Given the description of an element on the screen output the (x, y) to click on. 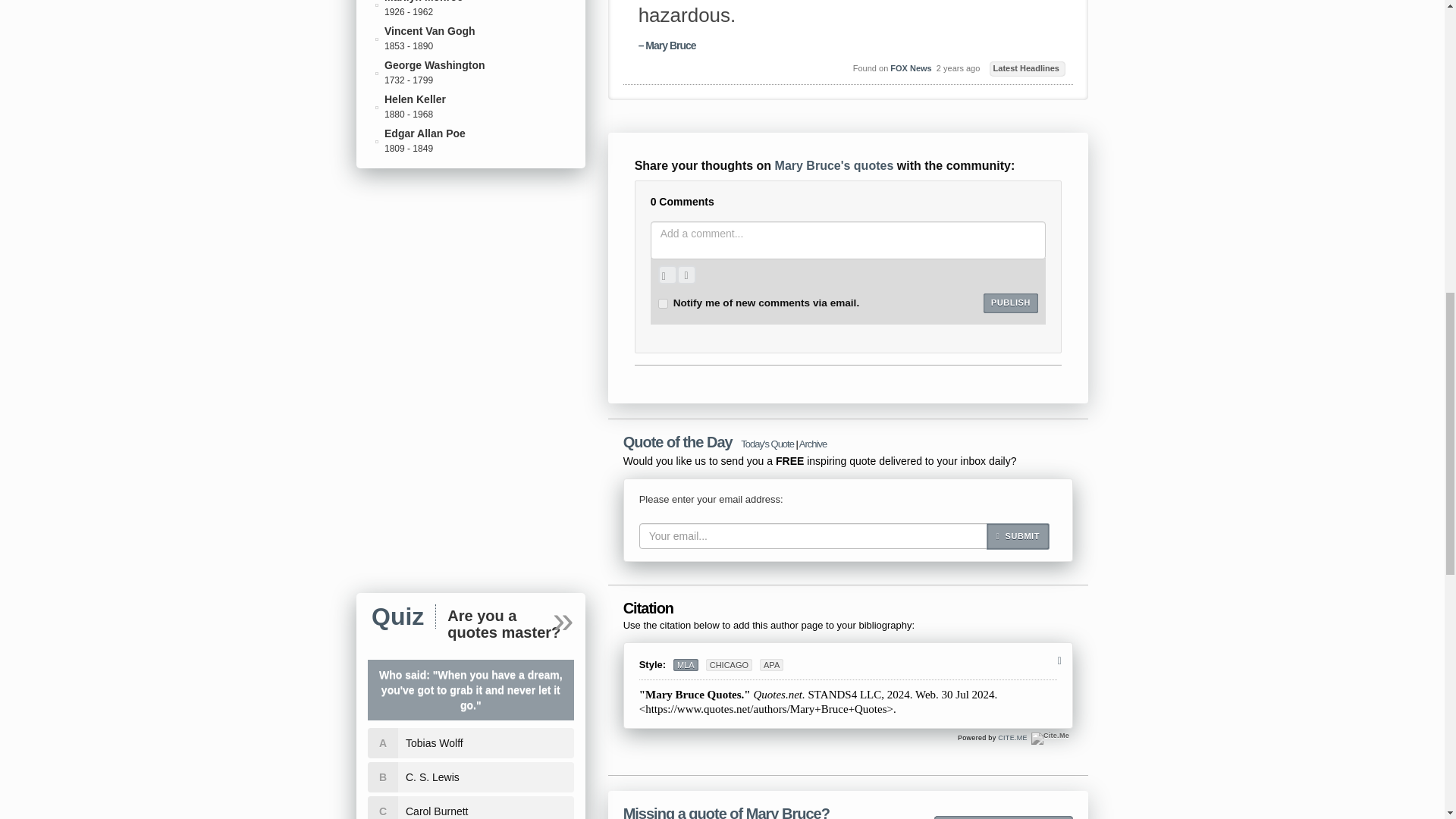
Cite.Me (1050, 738)
Record a sound (686, 274)
Upload an image (667, 274)
Cite.Me (1012, 737)
on (663, 303)
Cite.Me (1049, 738)
